Given the description of an element on the screen output the (x, y) to click on. 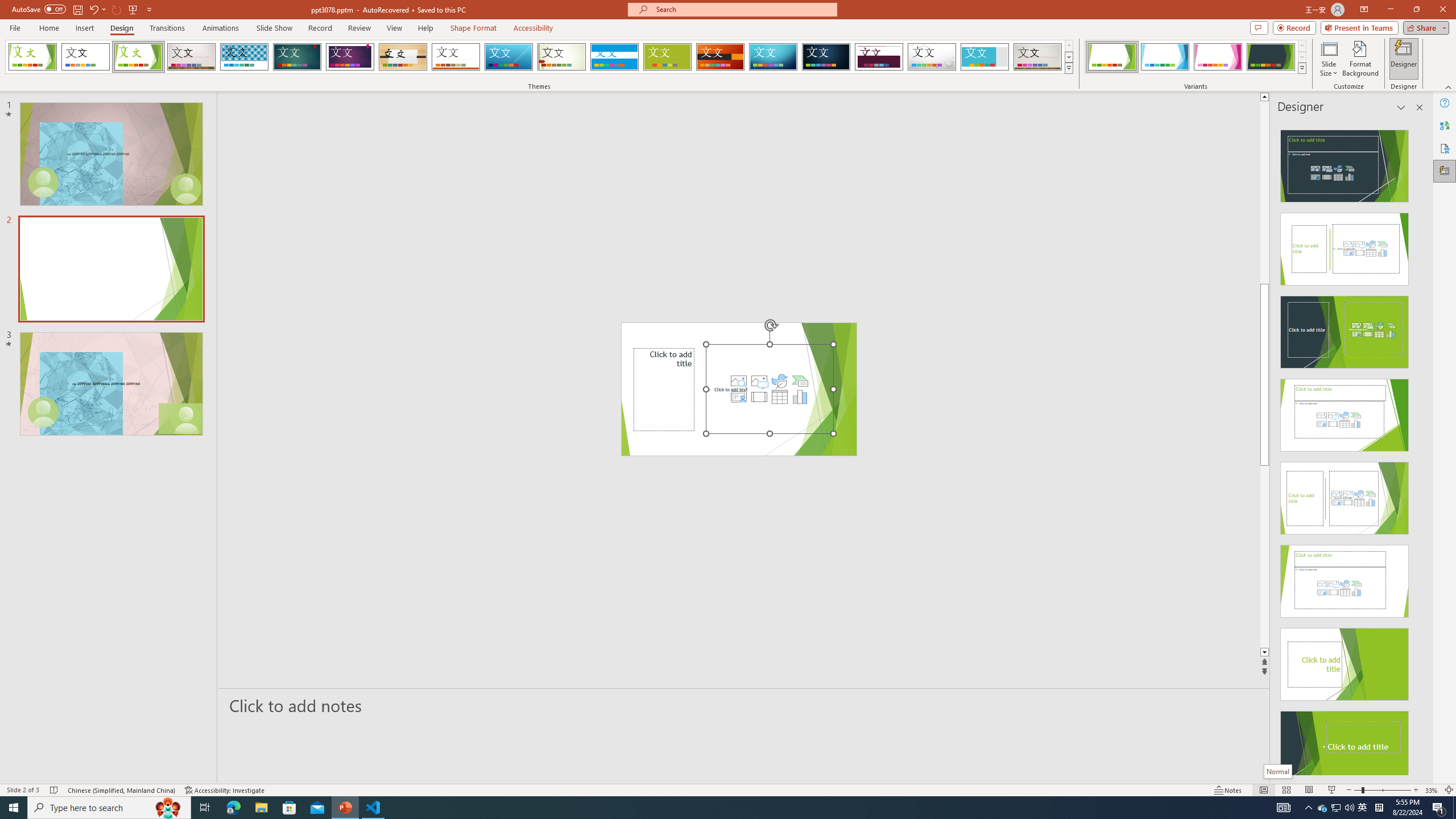
Facet Variant 1 (1112, 56)
Droplet (931, 56)
Facet Variant 4 (1270, 56)
